Given the description of an element on the screen output the (x, y) to click on. 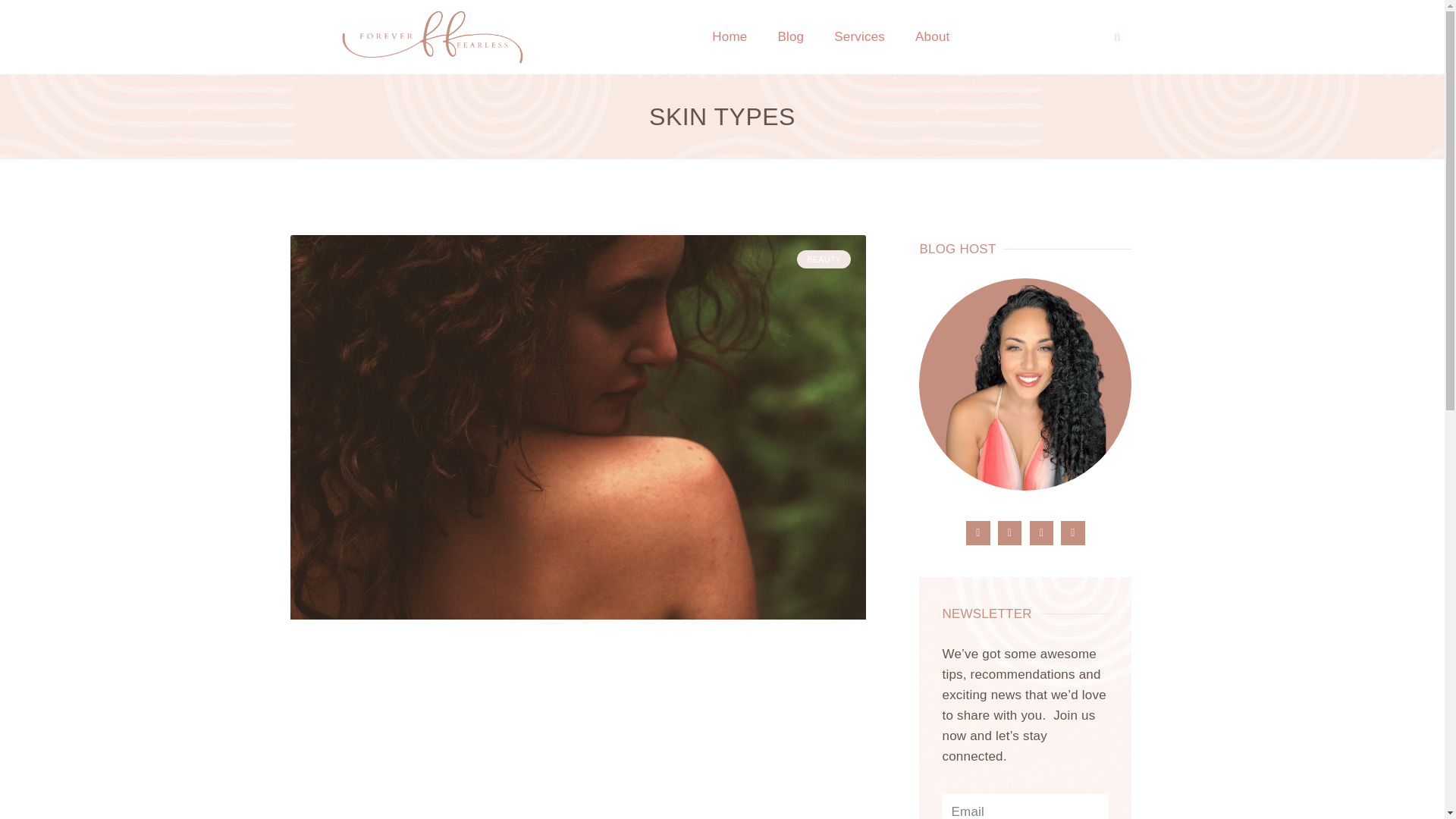
About (931, 36)
Services (858, 36)
Home (729, 36)
Blog (789, 36)
